Given the description of an element on the screen output the (x, y) to click on. 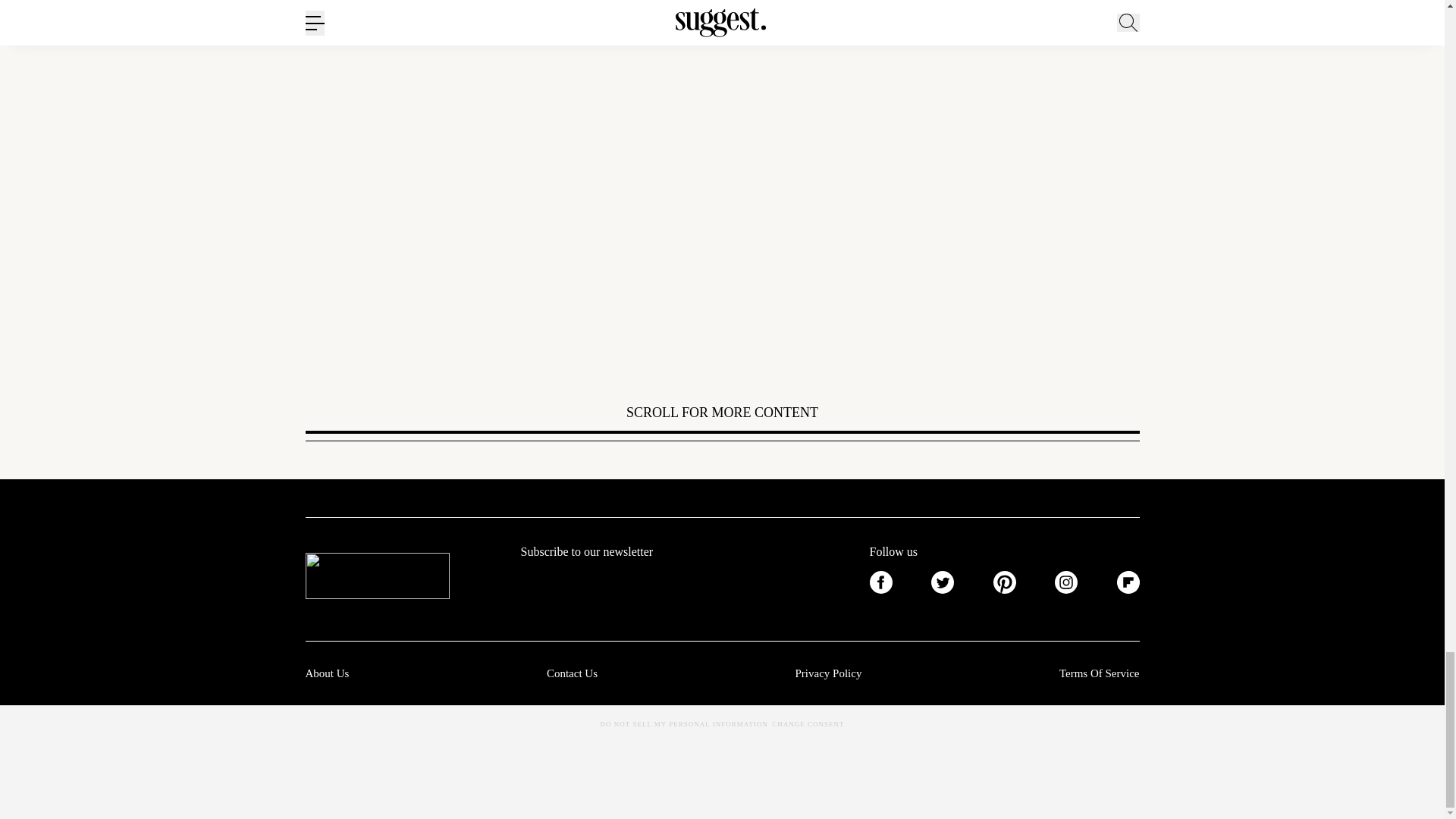
Contact Us (571, 673)
About Us (326, 673)
